Given the description of an element on the screen output the (x, y) to click on. 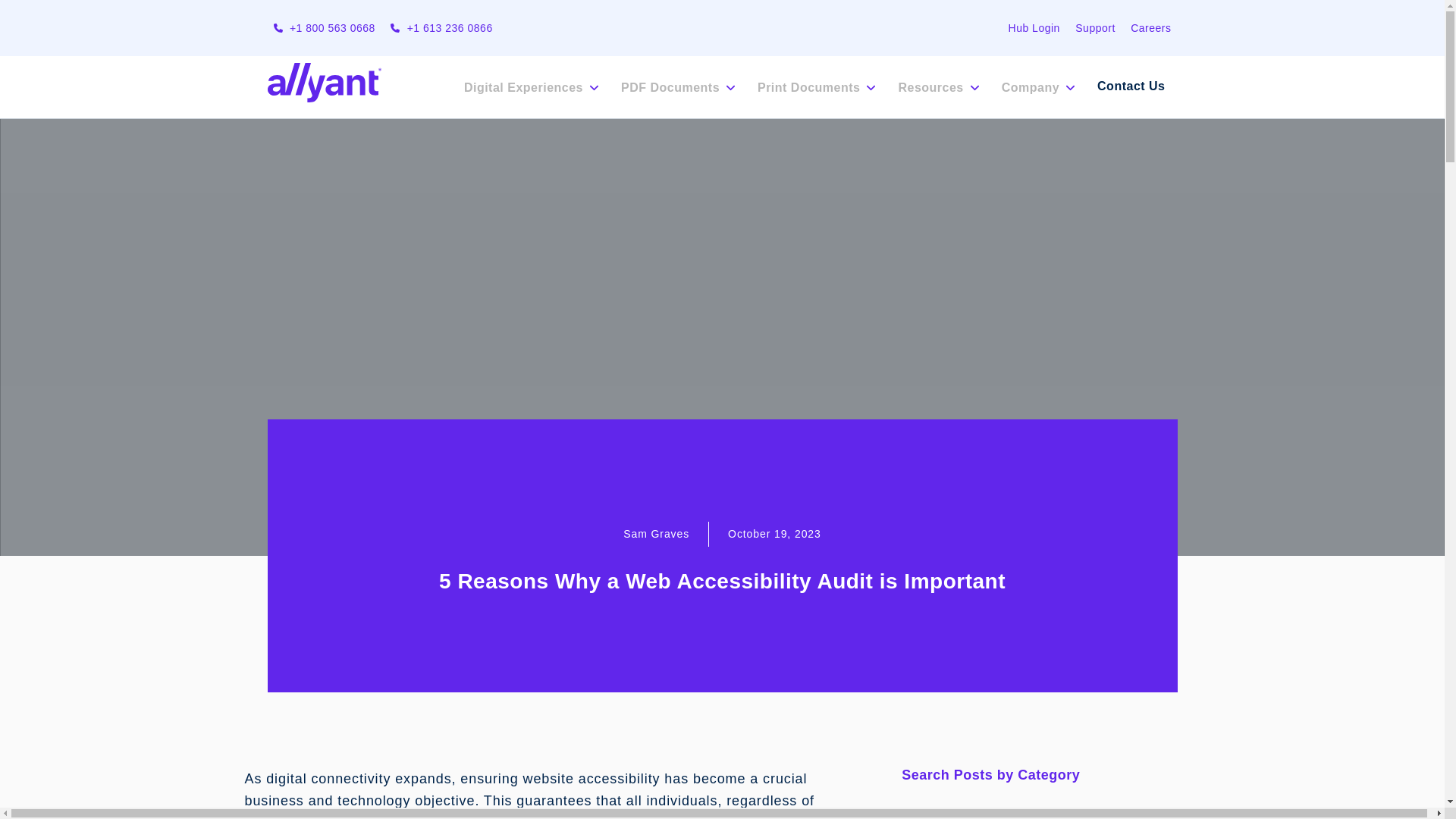
Print Documents (815, 86)
Digital Experiences (529, 86)
Careers (1150, 28)
PDF Documents (676, 86)
Hub Login (1034, 28)
Resources (936, 86)
Company (1037, 86)
Support (1095, 28)
Contact Us (1130, 86)
